Given the description of an element on the screen output the (x, y) to click on. 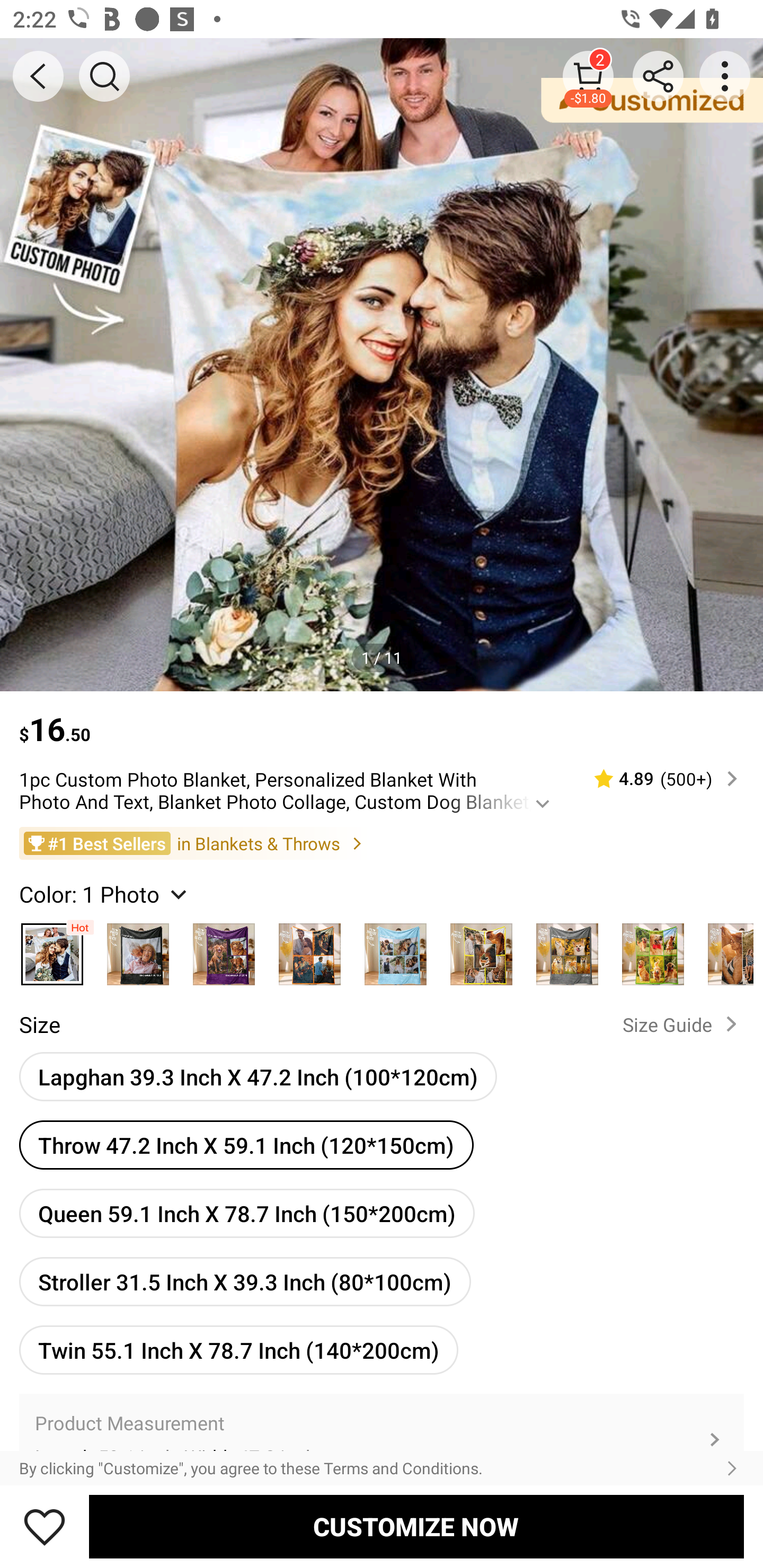
PHOTOS 1 / 11 (381, 364)
BACK (38, 75)
2 -$1.80 (588, 75)
1 / 11 (381, 656)
$16.50 (381, 720)
4.89 (500‎+) (658, 778)
#1 Best Sellers in Blankets & Throws (381, 842)
Color: 1 Photo (105, 893)
1 Photo (52, 949)
1 Photo + Text (138, 949)
3 Photos + Text (224, 949)
4 Photos (309, 949)
4 Photos + Text (395, 949)
5 Photos (481, 949)
5 Photos + Text (567, 949)
6 Photos (652, 949)
6 Photos - 2 (724, 949)
Size (39, 1024)
Size Guide (682, 1023)
CUSTOMIZE NOW (416, 1526)
Save (44, 1526)
